Given the description of an element on the screen output the (x, y) to click on. 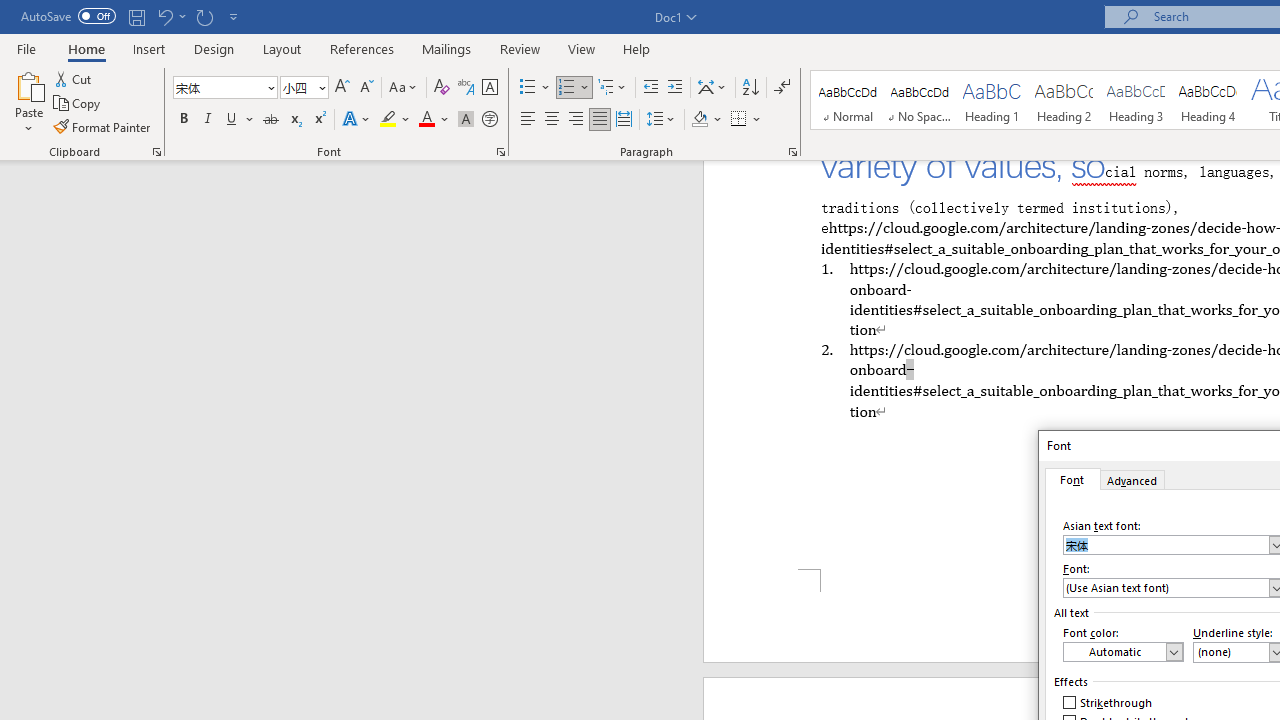
Heading 2 (1063, 100)
Paragraph... (792, 151)
Multilevel List (613, 87)
Character Shading (465, 119)
Copy (78, 103)
Text Highlight Color Yellow (388, 119)
Sort... (750, 87)
Clear Formatting (442, 87)
